Given the description of an element on the screen output the (x, y) to click on. 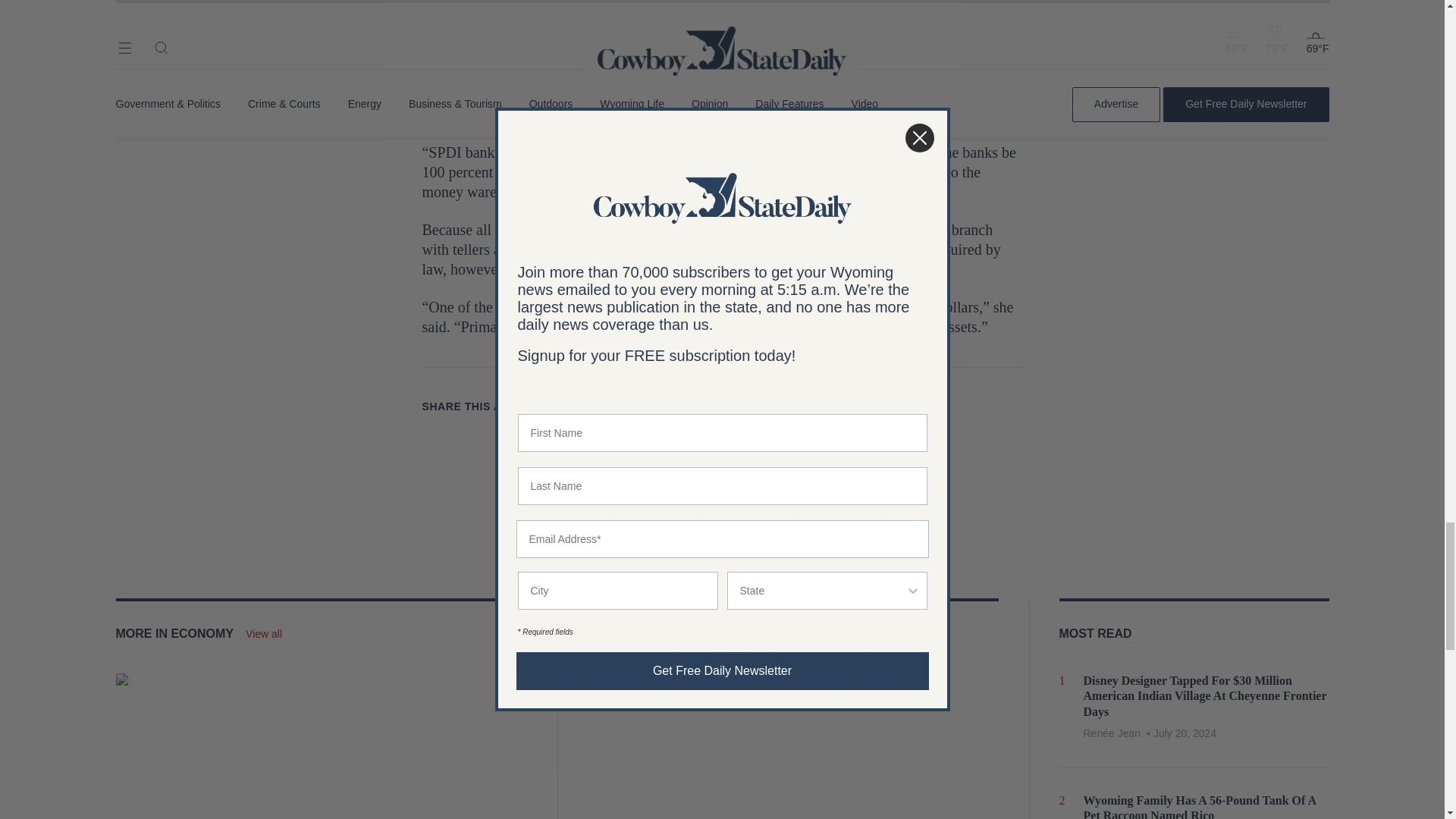
Copy to clipboard (664, 406)
